Given the description of an element on the screen output the (x, y) to click on. 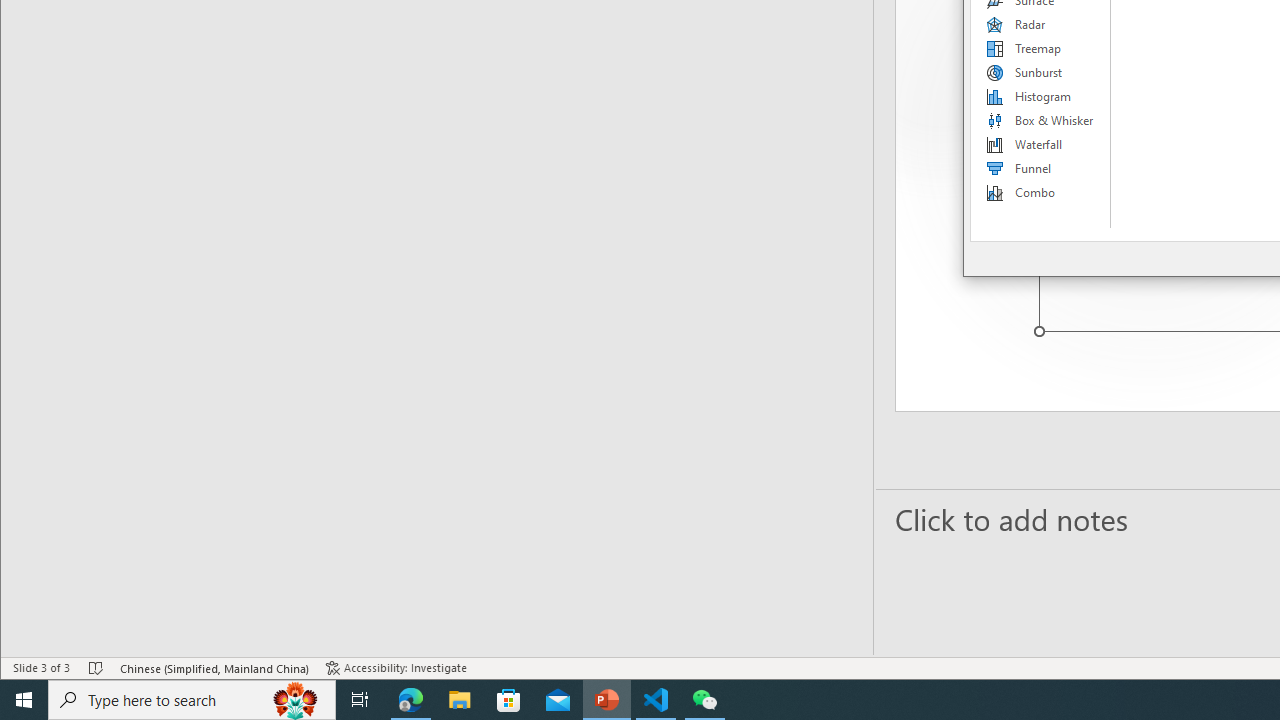
Waterfall (1041, 144)
Sunburst (1041, 72)
Box & Whisker (1041, 120)
Funnel (1041, 168)
Combo (1041, 192)
